Given the description of an element on the screen output the (x, y) to click on. 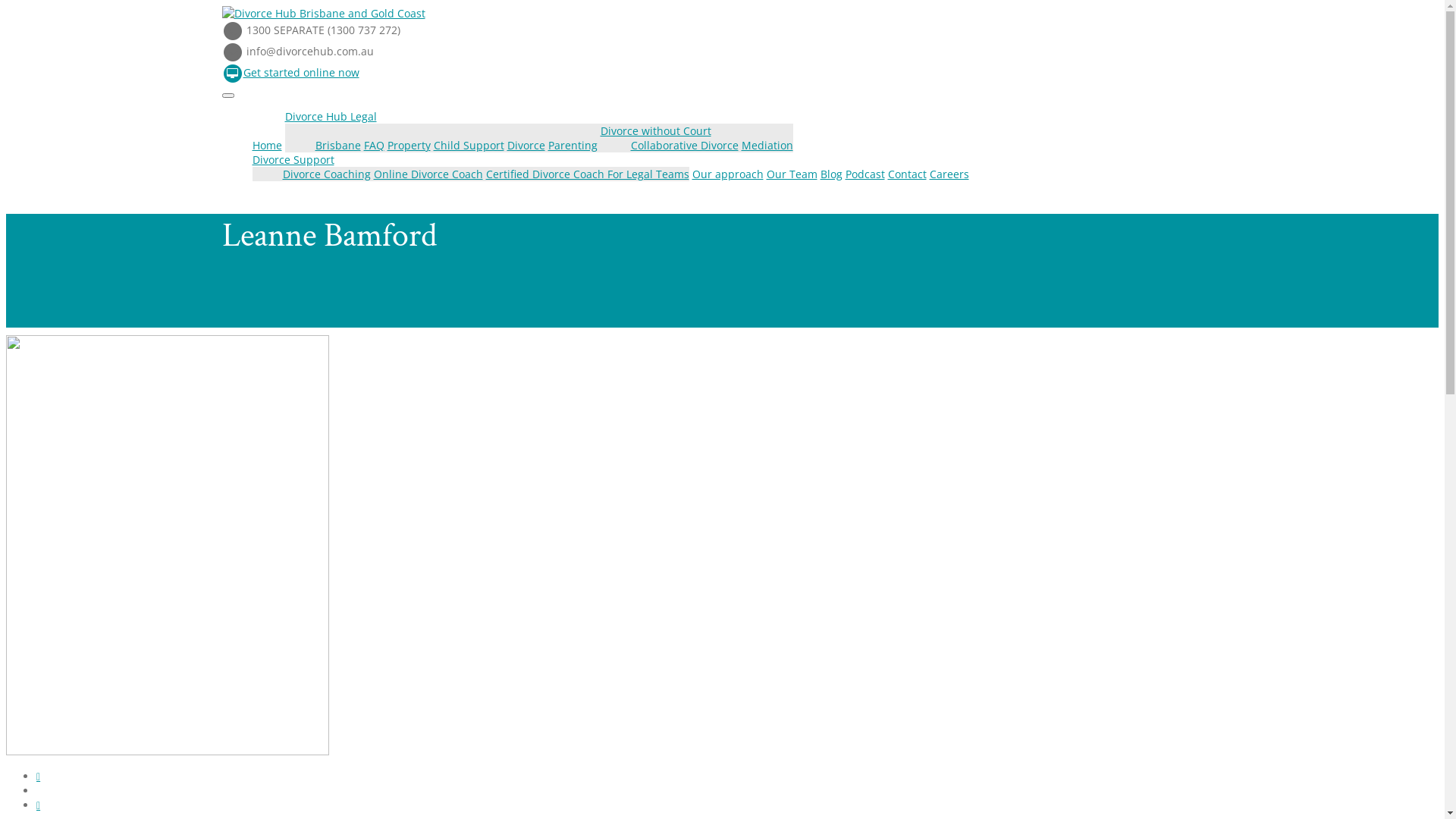
Mediation Element type: text (767, 145)
Divorce Hub Legal Element type: text (330, 116)
Certified Divorce Coach For Legal Teams Element type: text (586, 173)
Get started online now Element type: text (289, 72)
Property Element type: text (407, 145)
Blog Element type: text (831, 173)
Podcast Element type: text (864, 173)
Online Divorce Coach Element type: text (427, 173)
FAQ Element type: text (374, 145)
Divorce without Court Element type: text (655, 130)
Contact Element type: text (906, 173)
Home Element type: text (266, 145)
Child Support Element type: text (468, 145)
Our Team Element type: text (790, 173)
Our approach Element type: text (726, 173)
Careers Element type: text (949, 173)
Divorce Support Element type: text (292, 159)
Parenting Element type: text (571, 145)
Collaborative Divorce Element type: text (684, 145)
Divorce Coaching Element type: text (326, 173)
Brisbane Element type: text (337, 145)
Divorce Element type: text (525, 145)
